Given the description of an element on the screen output the (x, y) to click on. 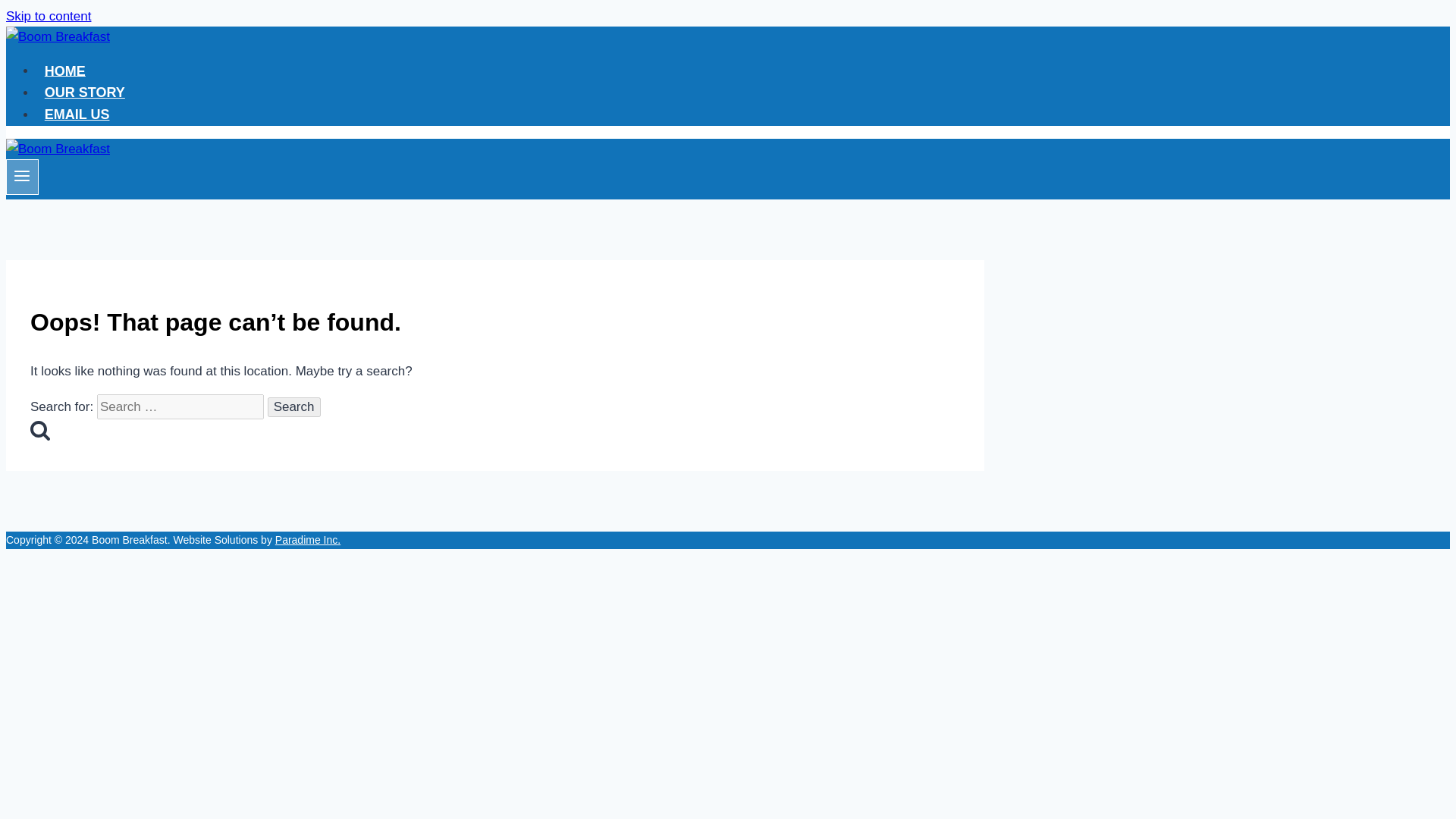
OUR STORY (84, 92)
Search (293, 406)
Search (39, 429)
Toggle Menu (22, 176)
Toggle Menu (21, 176)
Skip to content (47, 16)
HOME (65, 70)
EMAIL US (76, 114)
Search (293, 406)
Search (293, 406)
Skip to content (47, 16)
